Given the description of an element on the screen output the (x, y) to click on. 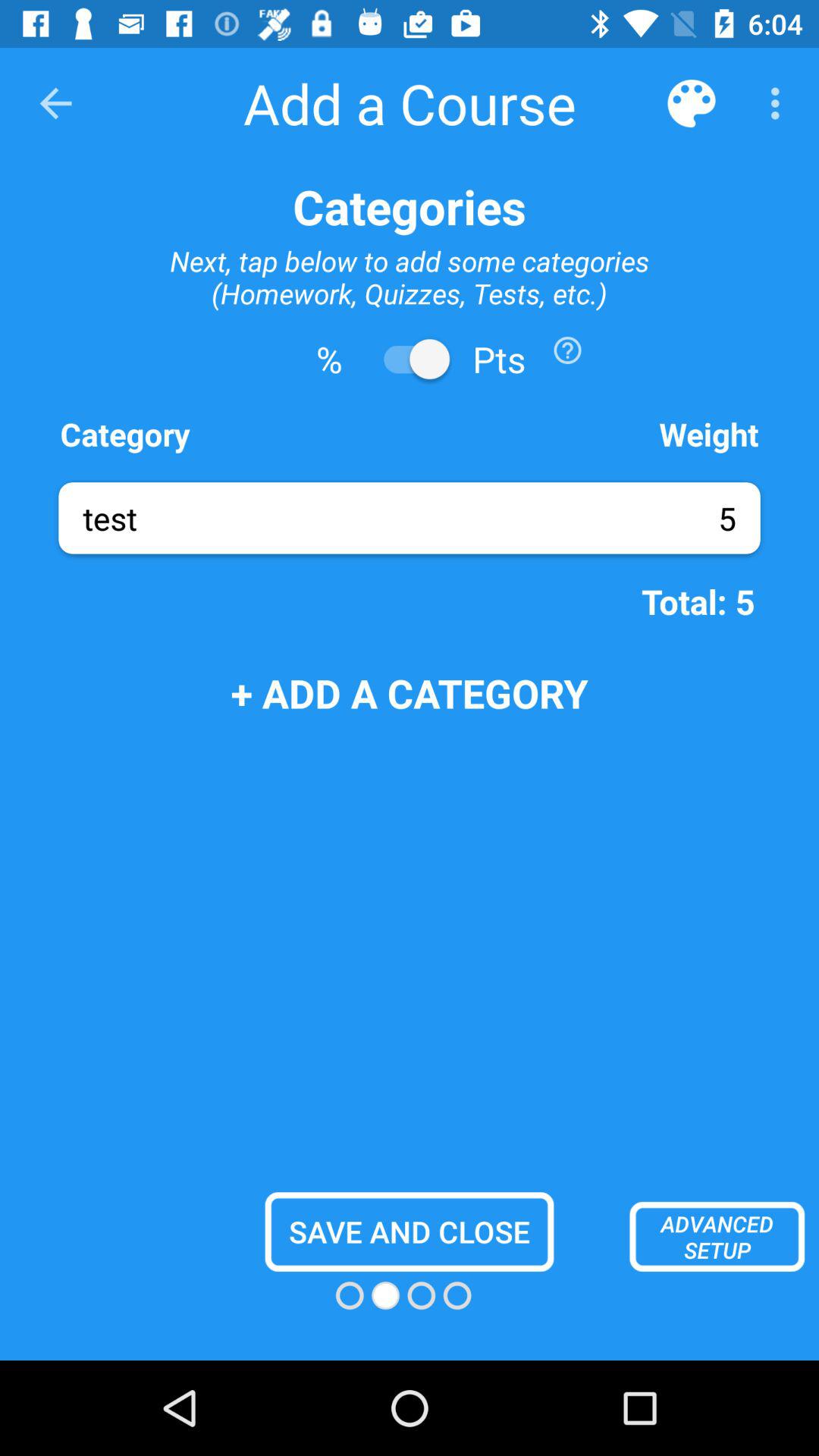
select the icon above categories item (779, 103)
